Given the description of an element on the screen output the (x, y) to click on. 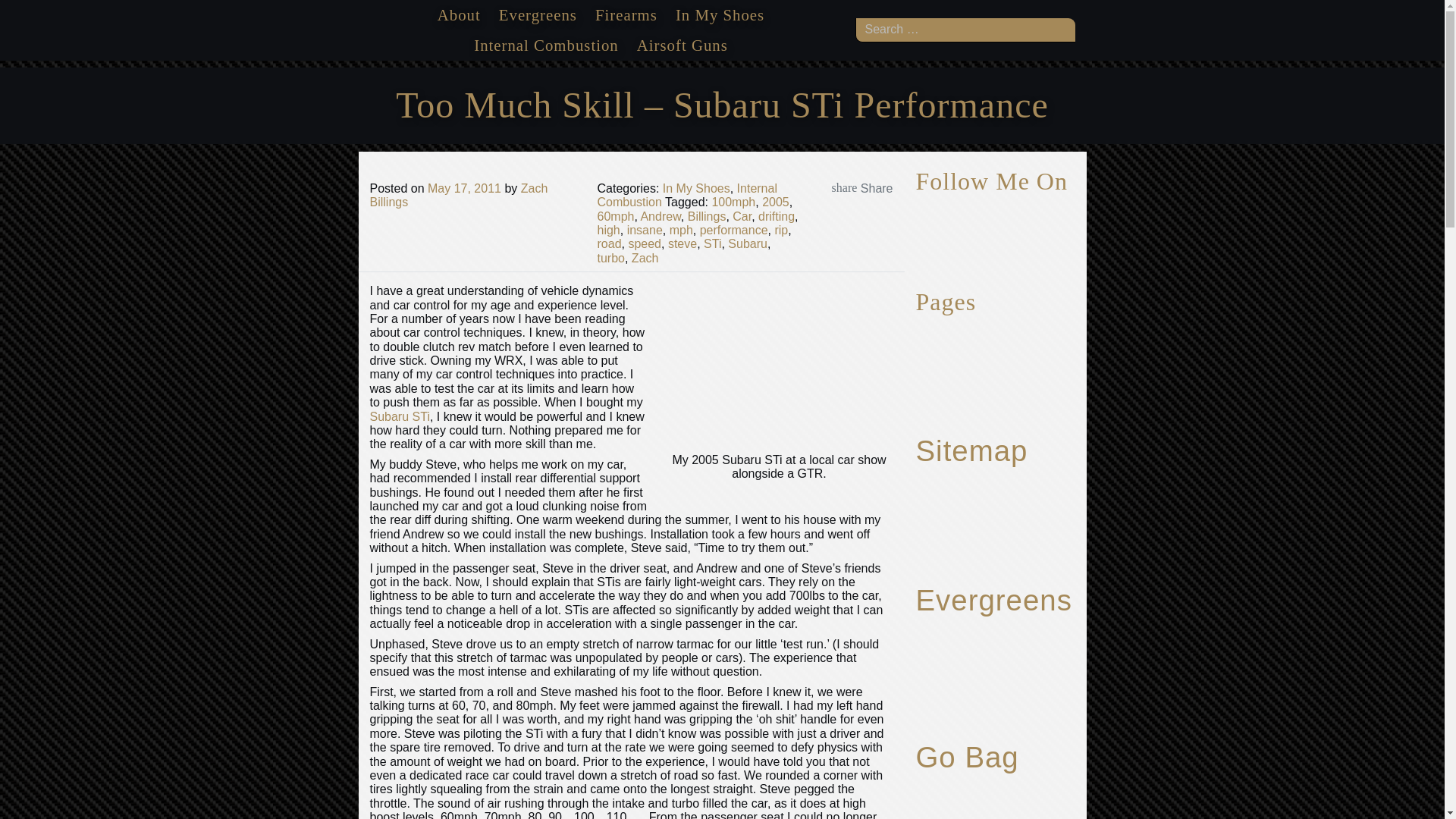
STi (711, 243)
Evergreens (537, 14)
performance (734, 229)
100mph (733, 201)
May 17, 2011 (464, 187)
2005 Subaru STi (779, 363)
road (608, 243)
Airsoft Guns (682, 44)
Internal Combustion (546, 44)
insane (644, 229)
Car (741, 215)
Internal Combustion (686, 194)
Subaru (747, 243)
Andrew (659, 215)
rip (780, 229)
